Given the description of an element on the screen output the (x, y) to click on. 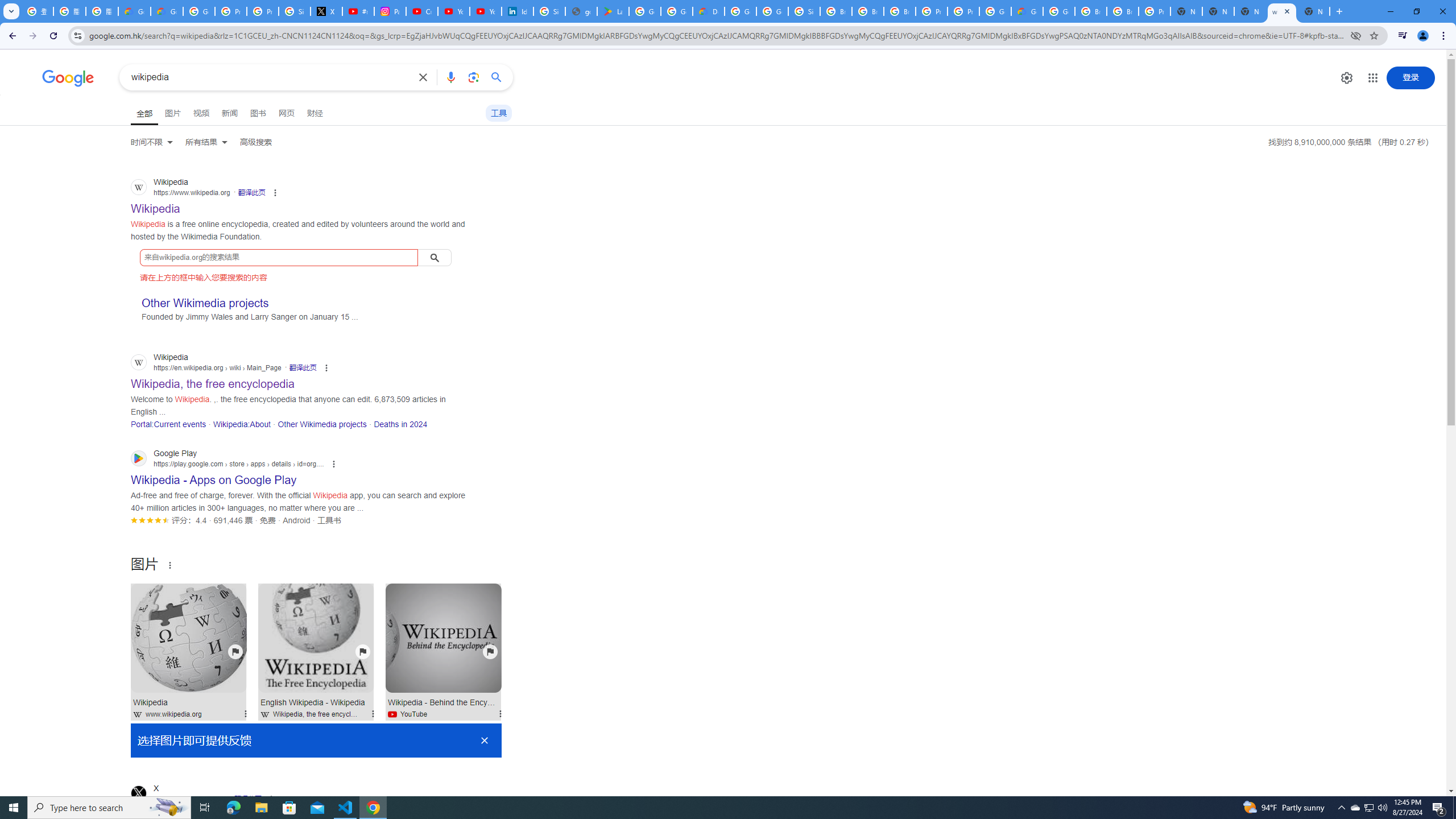
Privacy Help Center - Policies Help (230, 11)
Wikipedia:About (241, 424)
Privacy Help Center - Policies Help (262, 11)
